Given the description of an element on the screen output the (x, y) to click on. 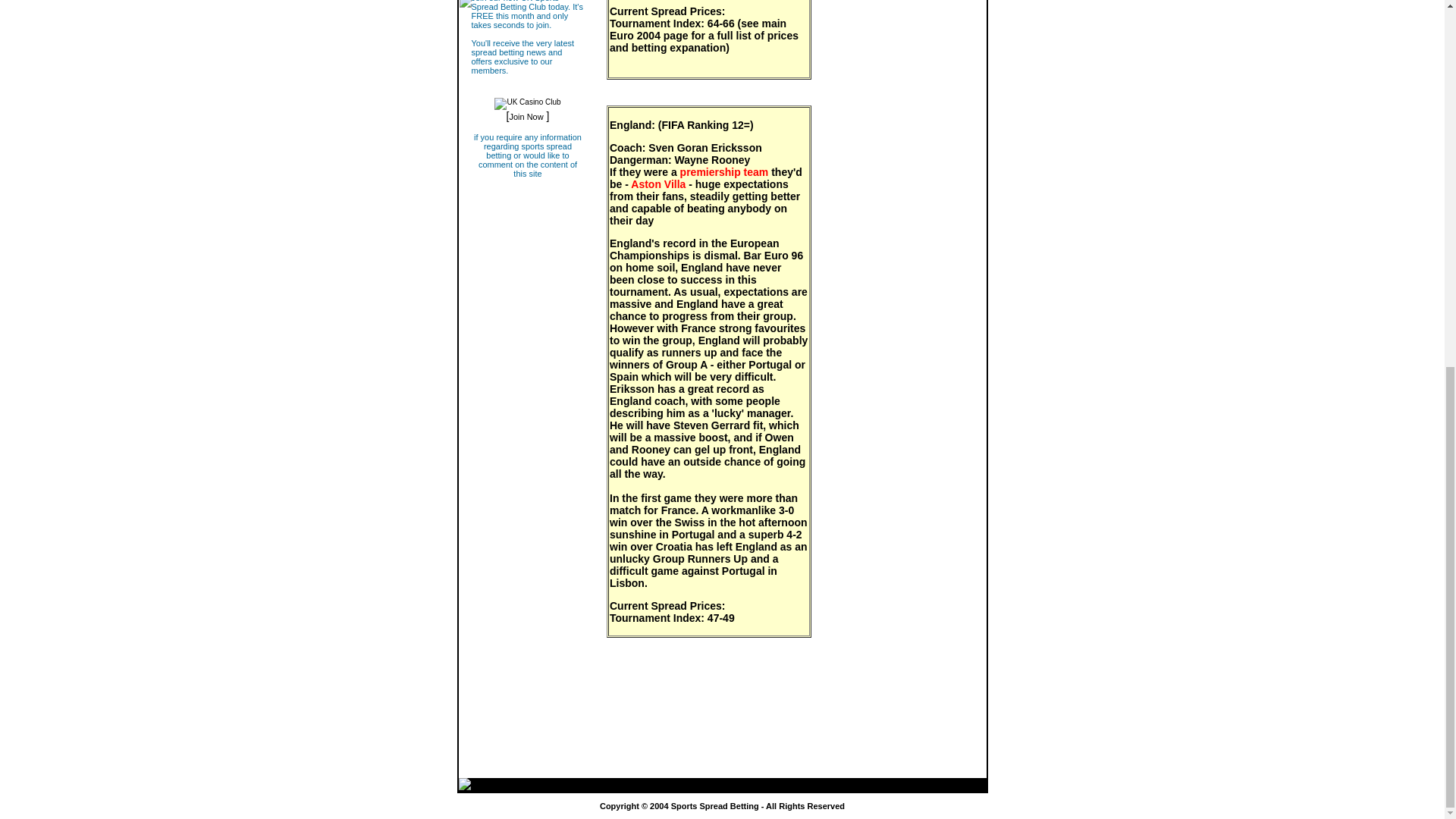
Sports Spread Betting (714, 805)
Euro 2004 page (649, 35)
Join Now (525, 116)
